Given the description of an element on the screen output the (x, y) to click on. 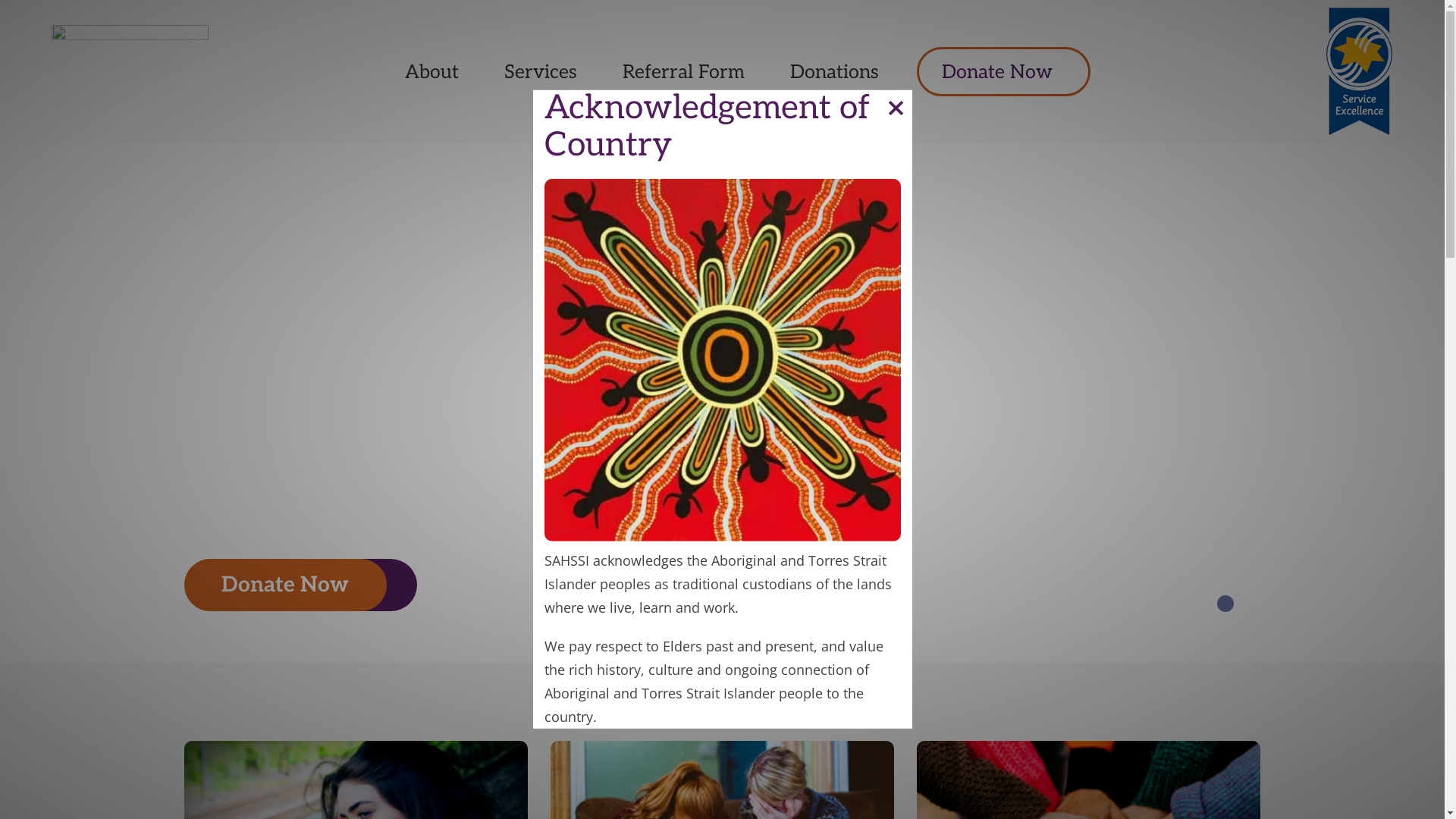
Donate Now Element type: text (284, 584)
Donations Element type: text (834, 71)
About Element type: text (431, 71)
Donate Now Element type: text (1003, 72)
Referral Form Element type: text (683, 71)
Services Element type: text (540, 71)
